Given the description of an element on the screen output the (x, y) to click on. 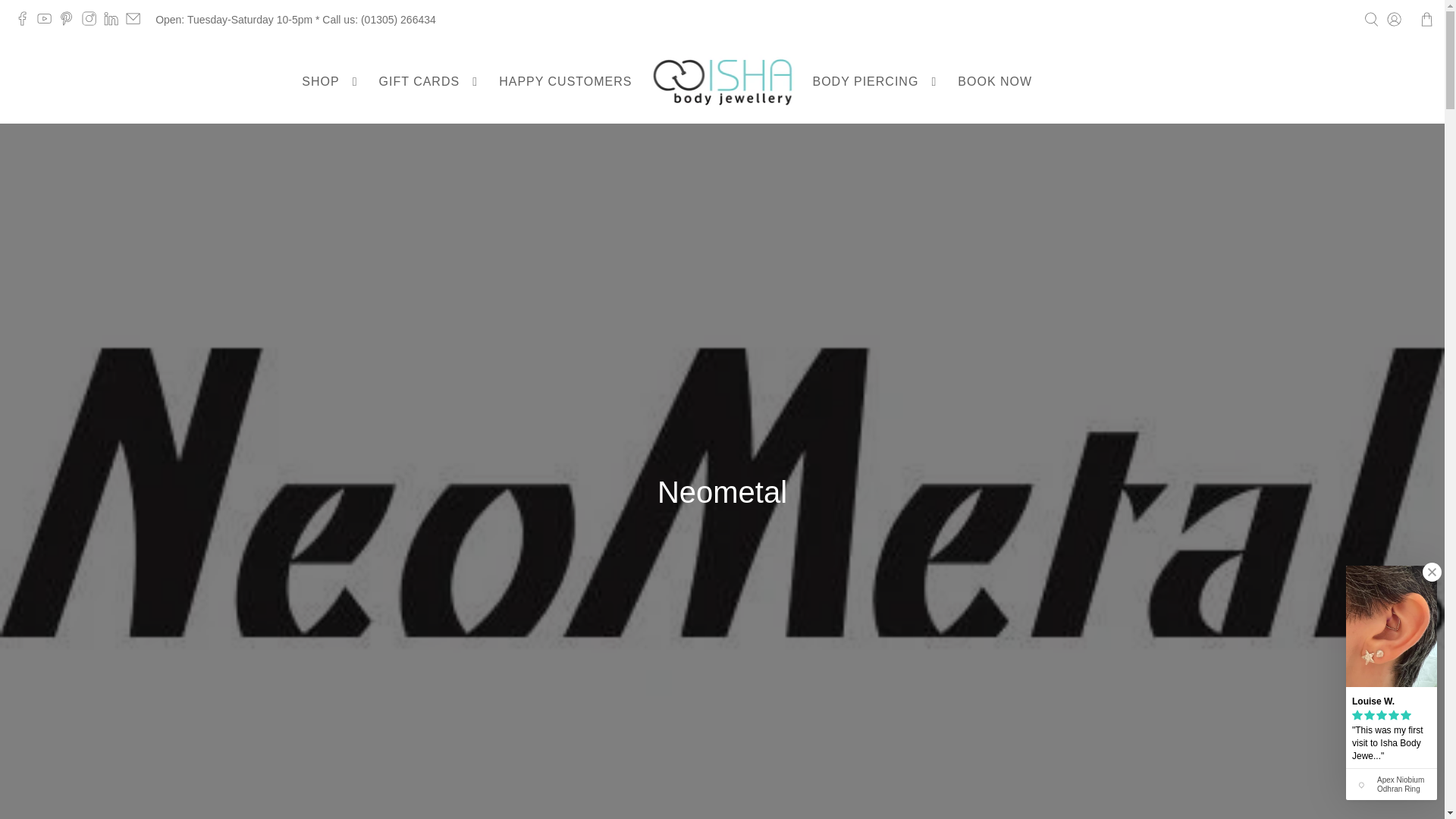
Isha Body Jewellery on Pinterest (70, 22)
HAPPY CUSTOMERS (564, 81)
Isha Body Jewellery on Facebook (25, 22)
SHOP (330, 81)
Isha Body Jewellery on LinkedIn (114, 22)
Email Isha Body Jewellery (136, 22)
BODY PIERCING (876, 81)
GIFT CARDS (429, 81)
Isha Body Jewellery on YouTube (48, 22)
Isha Body Jewellery (722, 81)
Isha Body Jewellery on Instagram (92, 22)
